Given the description of an element on the screen output the (x, y) to click on. 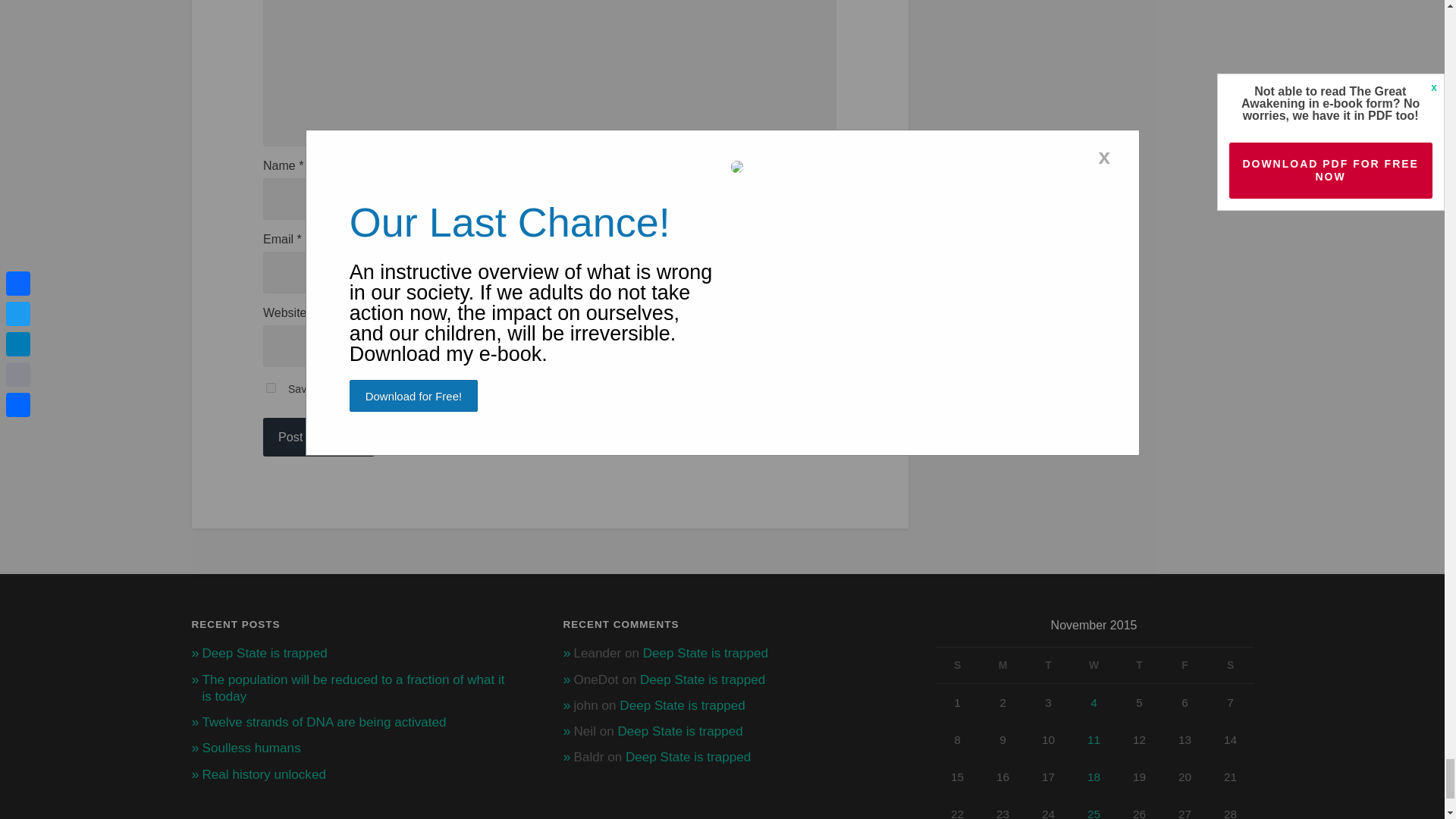
yes (271, 388)
Monday (1002, 665)
Post Comment (318, 436)
Sunday (956, 665)
